Given the description of an element on the screen output the (x, y) to click on. 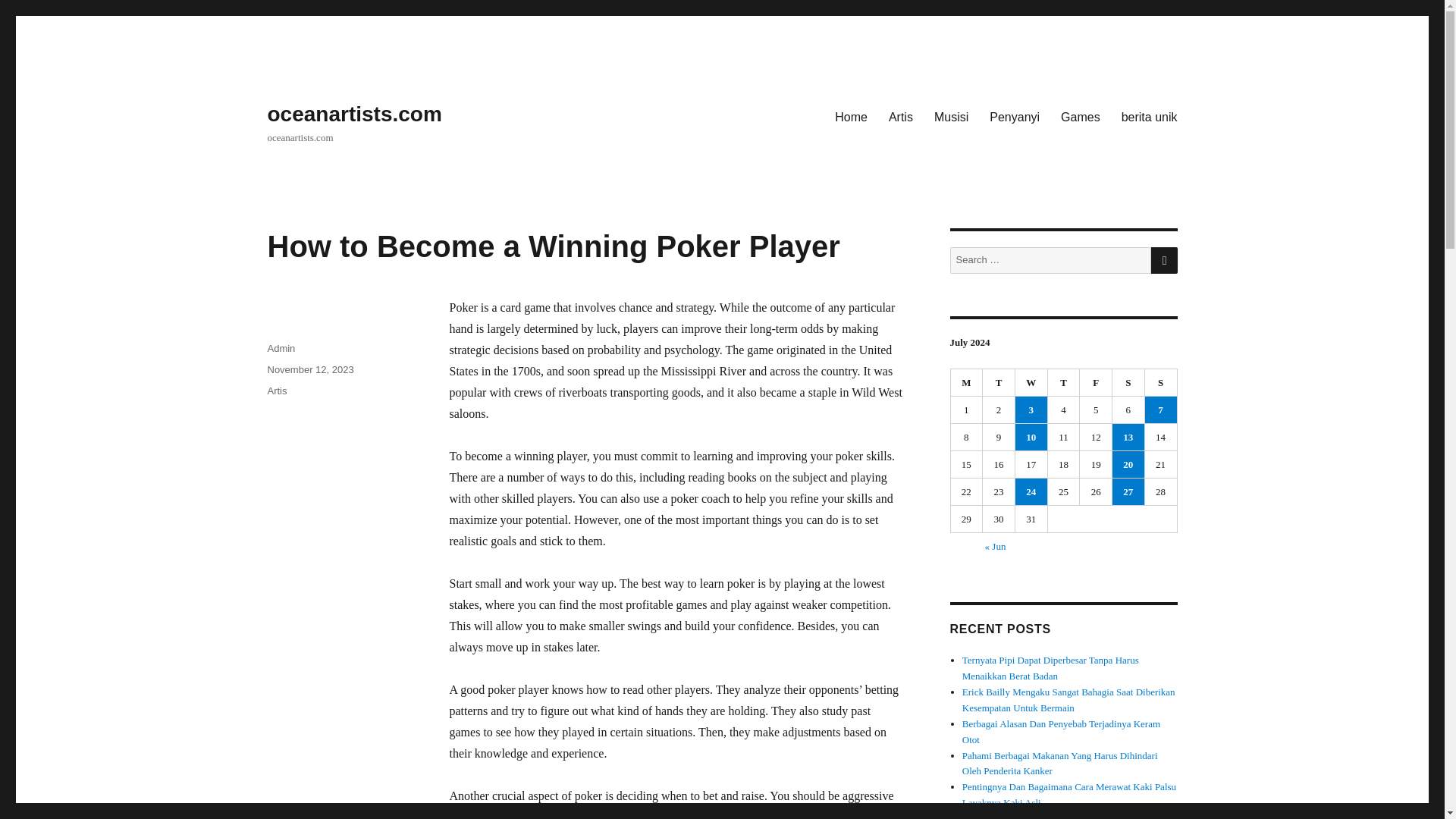
Wednesday (1031, 382)
Games (1079, 116)
24 (1030, 491)
oceanartists.com (353, 114)
Admin (280, 348)
Sunday (1160, 382)
berita unik (1149, 116)
20 (1128, 464)
Artis (276, 390)
Musisi (950, 116)
November 12, 2023 (309, 369)
27 (1128, 491)
Home (850, 116)
